Given the description of an element on the screen output the (x, y) to click on. 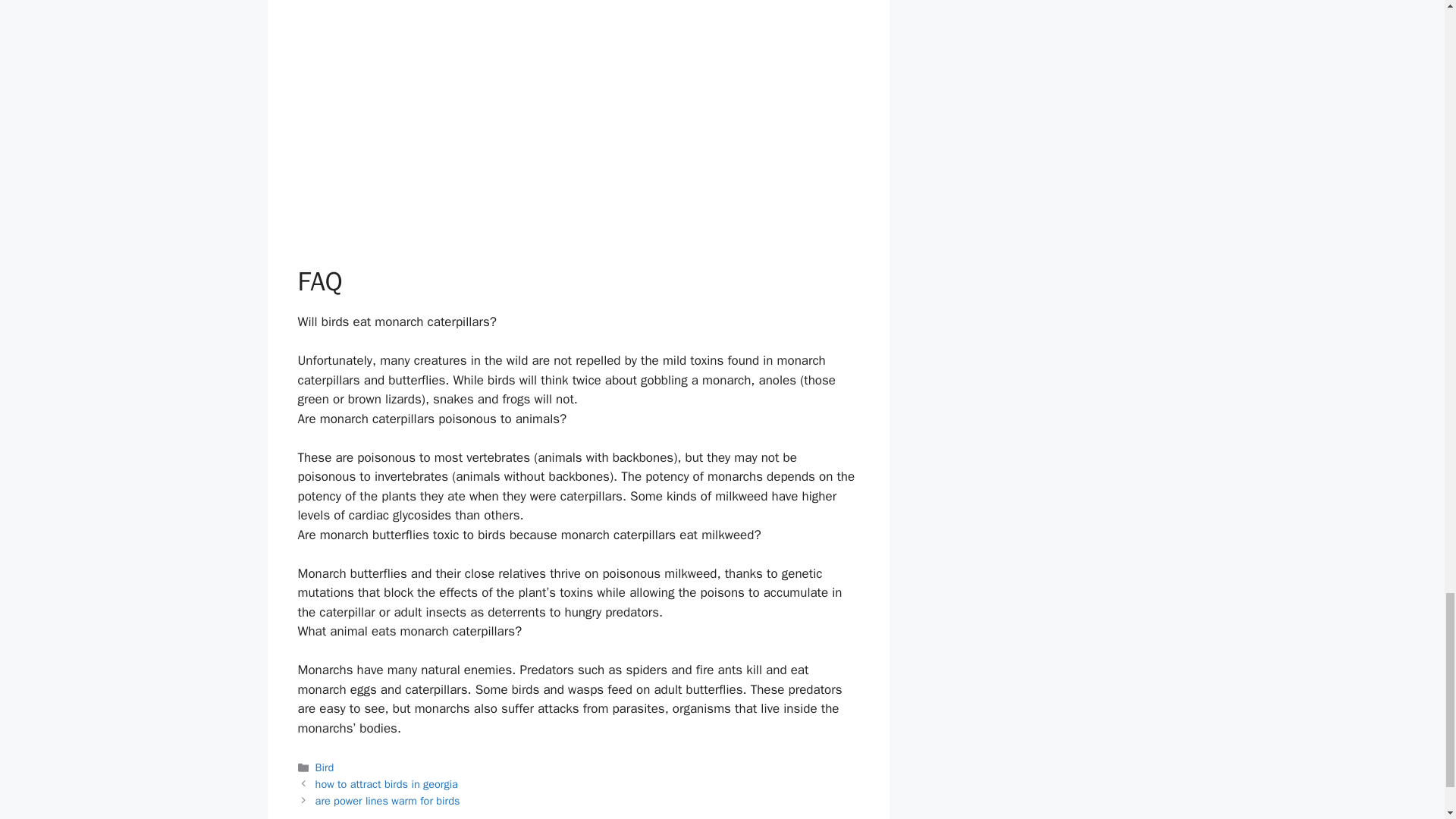
how to attract birds in georgia (386, 784)
Bird (324, 766)
are power lines warm for birds (387, 800)
